Given the description of an element on the screen output the (x, y) to click on. 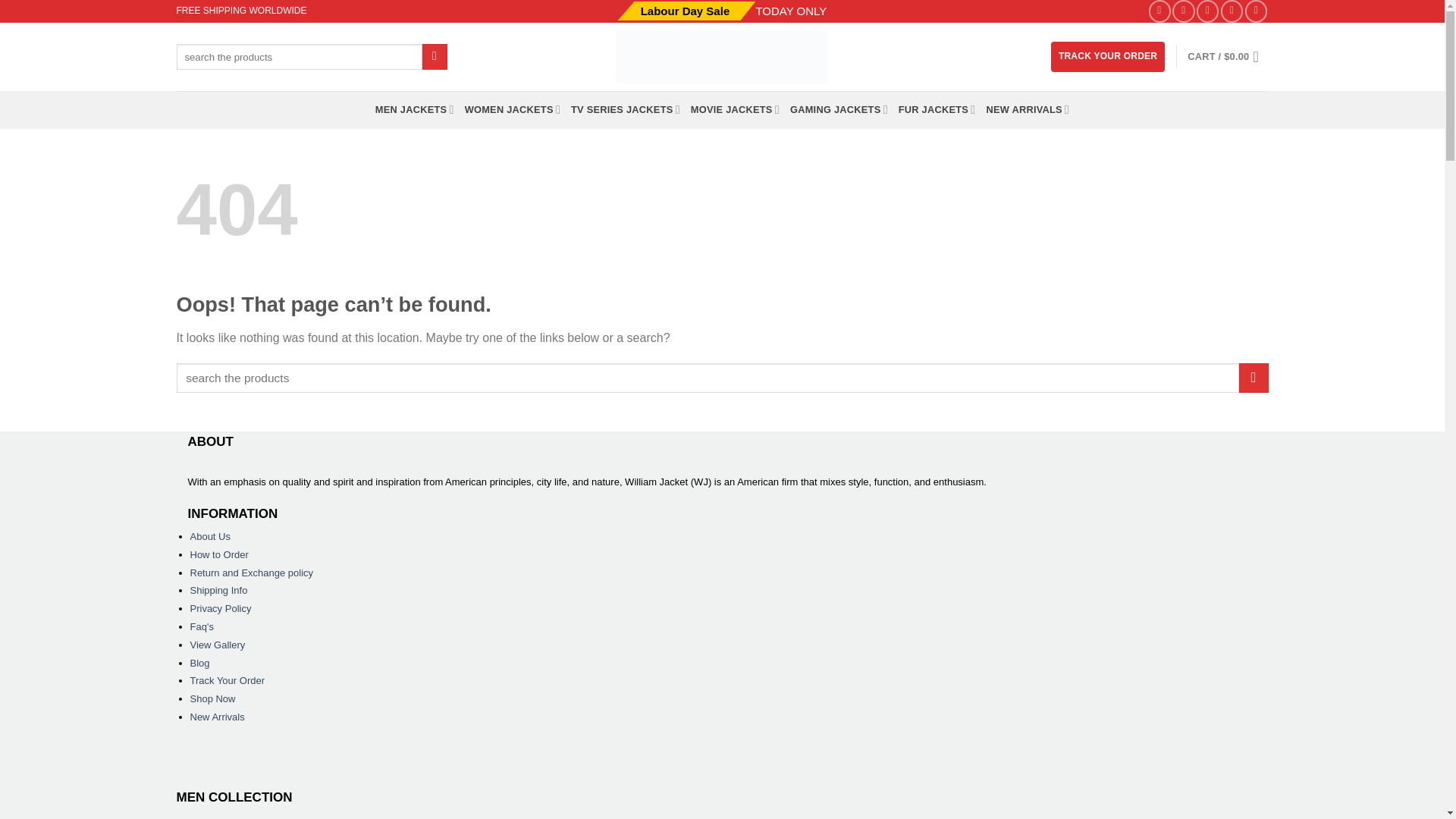
Follow on Facebook (1159, 11)
Follow on Twitter (1207, 11)
Search (434, 56)
William Jacket - William Jacket your trusted brand (721, 56)
Follow on YouTube (1255, 11)
Follow on Pinterest (1232, 11)
TRACK YOUR ORDER (1107, 56)
Follow on Instagram (1182, 11)
MEN JACKETS (414, 109)
Cart (1228, 56)
